Given the description of an element on the screen output the (x, y) to click on. 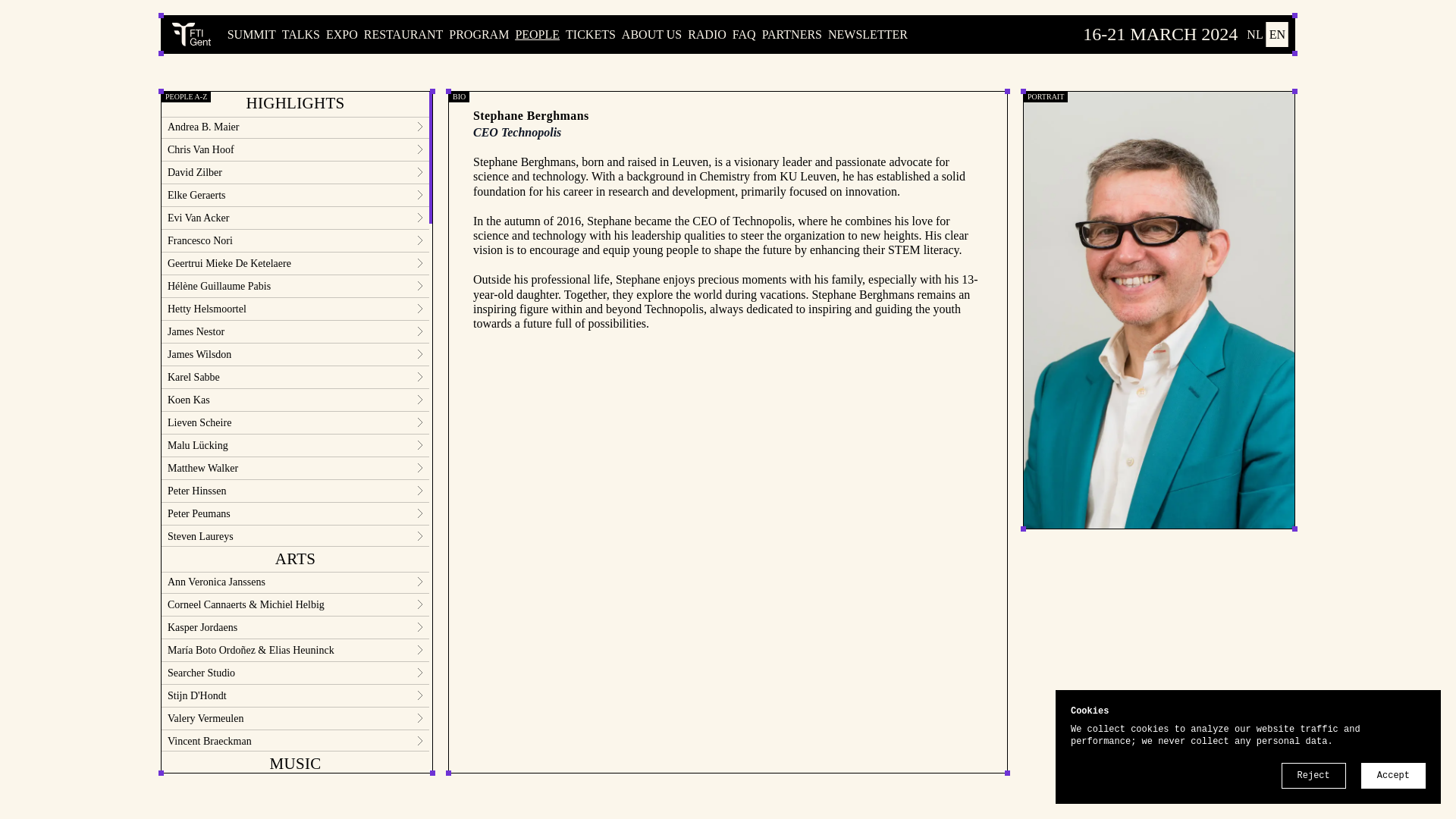
SUMMIT (251, 33)
ABOUT US (651, 33)
Geertrui Mieke De Ketelaere (295, 262)
EXPO (342, 33)
RADIO (706, 33)
Andrea B. Maier (295, 126)
PROGRAM (478, 33)
Francesco Nori (295, 239)
EN (1277, 34)
Evi Van Acker (295, 217)
FAQ (743, 33)
PEOPLE (537, 33)
MENU (194, 34)
TALKS (301, 33)
Chris Van Hoof (295, 148)
